Given the description of an element on the screen output the (x, y) to click on. 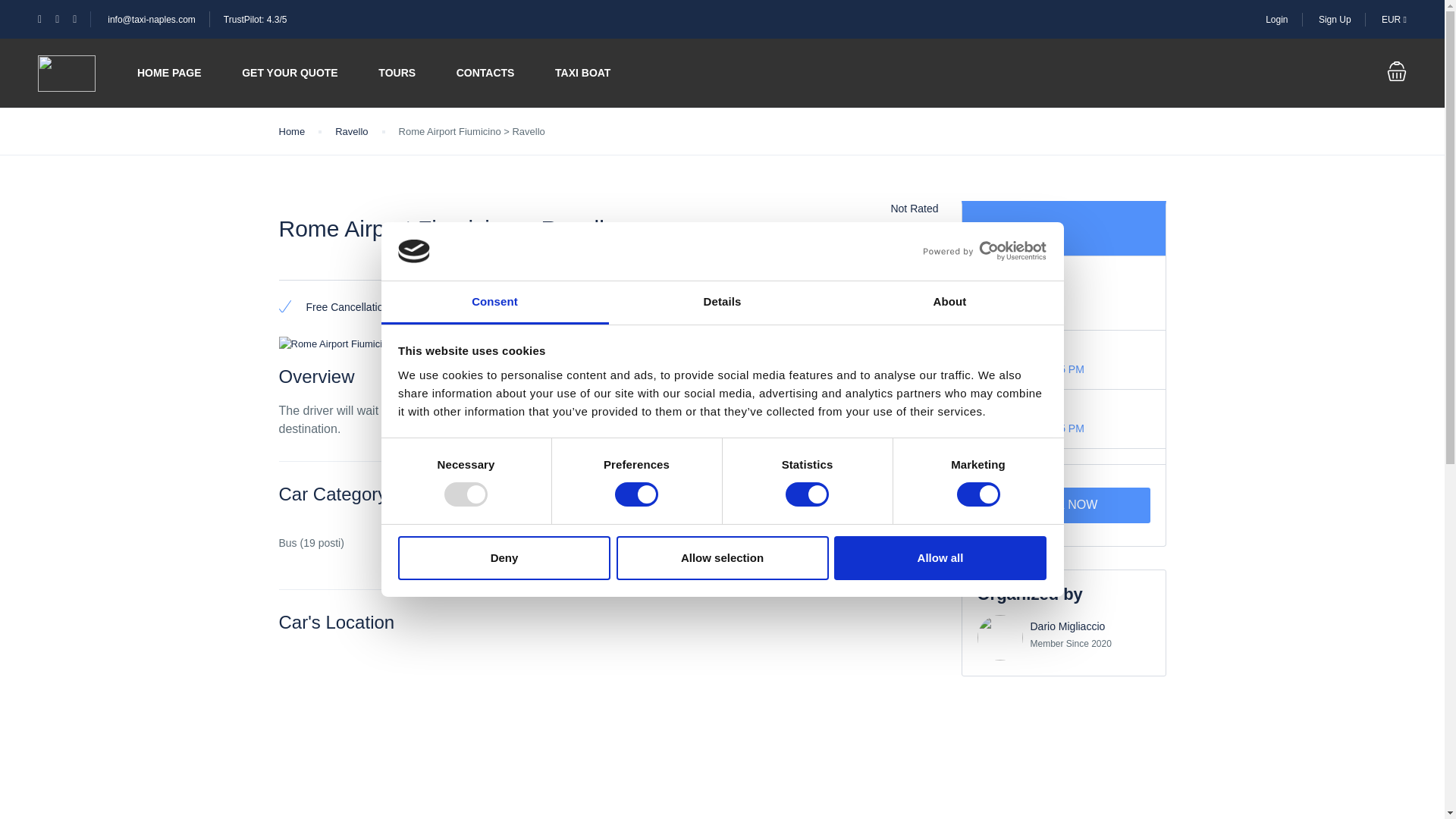
Deny (503, 557)
Details (721, 302)
Allow selection (721, 557)
Allow all (940, 557)
About (948, 302)
Sign Up (1335, 18)
Consent (494, 302)
Login (1276, 18)
